Given the description of an element on the screen output the (x, y) to click on. 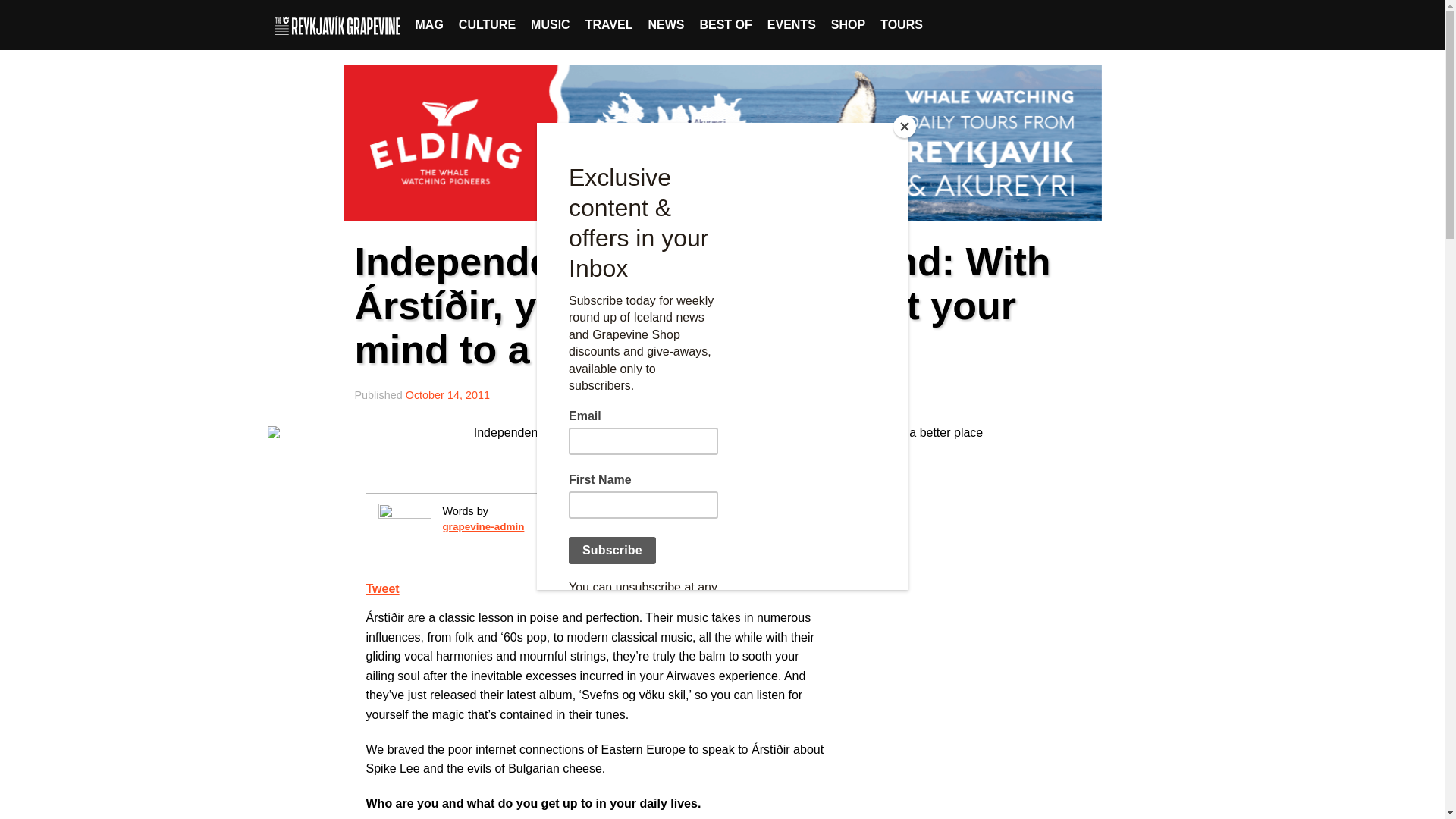
Tweet (381, 588)
grapevine-admin (483, 526)
SHOP (848, 24)
EVENTS (792, 24)
CULTURE (486, 24)
BEST OF (724, 24)
MUSIC (550, 24)
TRAVEL (609, 24)
NEWS (665, 24)
Posts by grapevine-admin (483, 526)
